Given the description of an element on the screen output the (x, y) to click on. 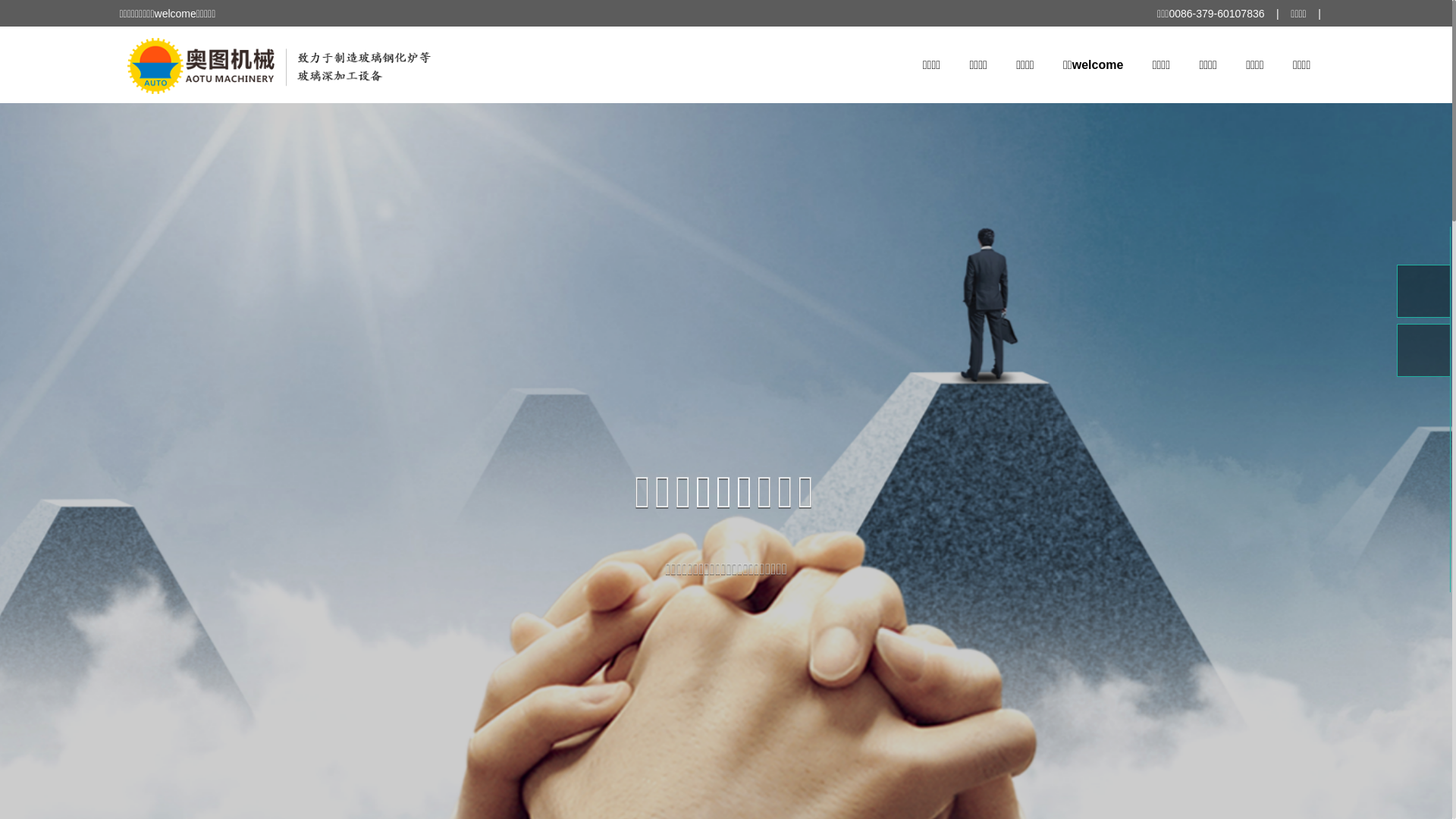
aotu Element type: hover (278, 65)
0086-379-60107836 Element type: text (1216, 13)
